Given the description of an element on the screen output the (x, y) to click on. 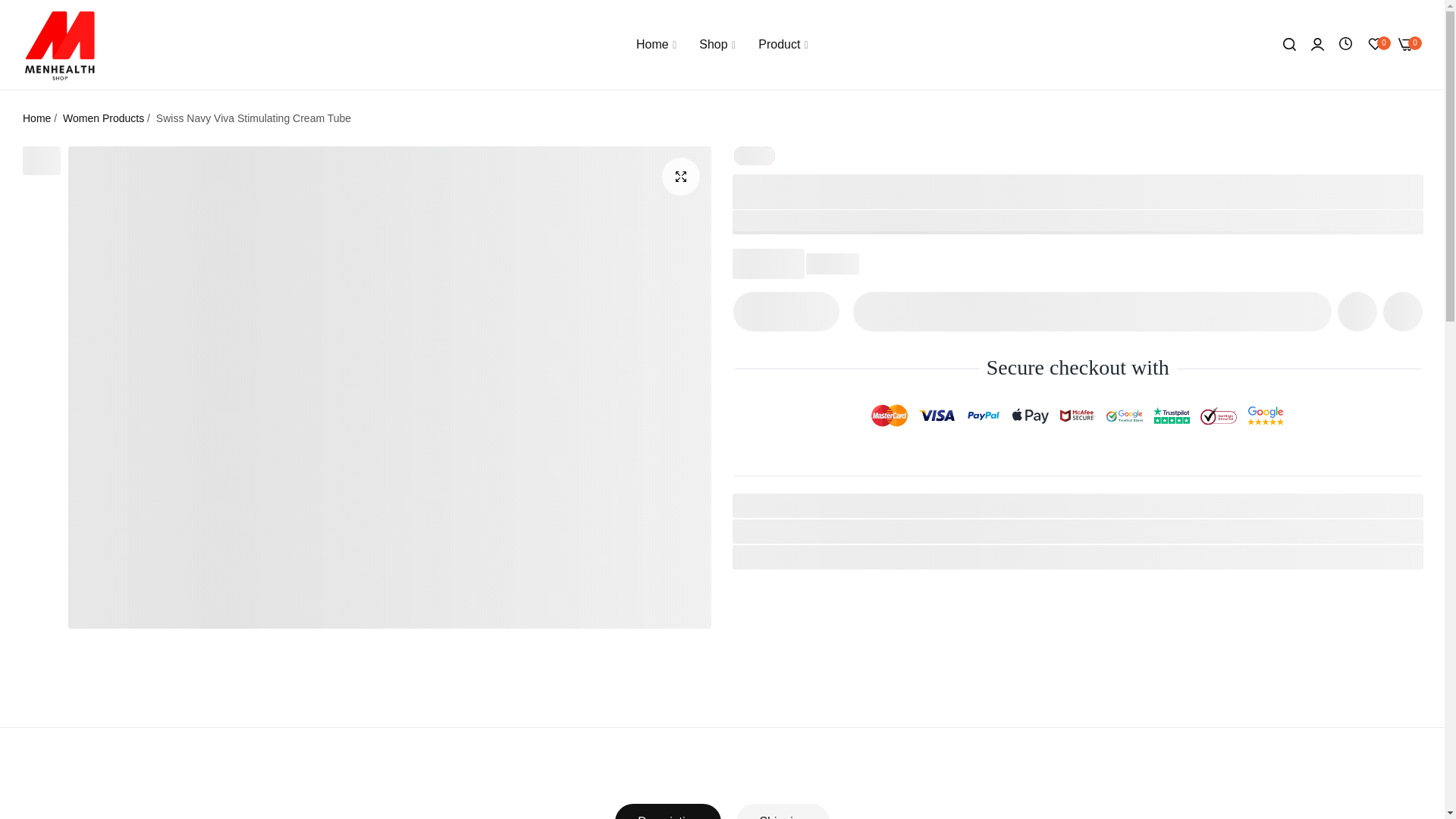
Zoom in (679, 176)
Women Products (845, 556)
Home (36, 118)
Minus (753, 311)
Description (667, 811)
1 (786, 311)
Women Products (103, 118)
Cream (815, 530)
Home (655, 44)
ADD TO CART (1092, 311)
